Given the description of an element on the screen output the (x, y) to click on. 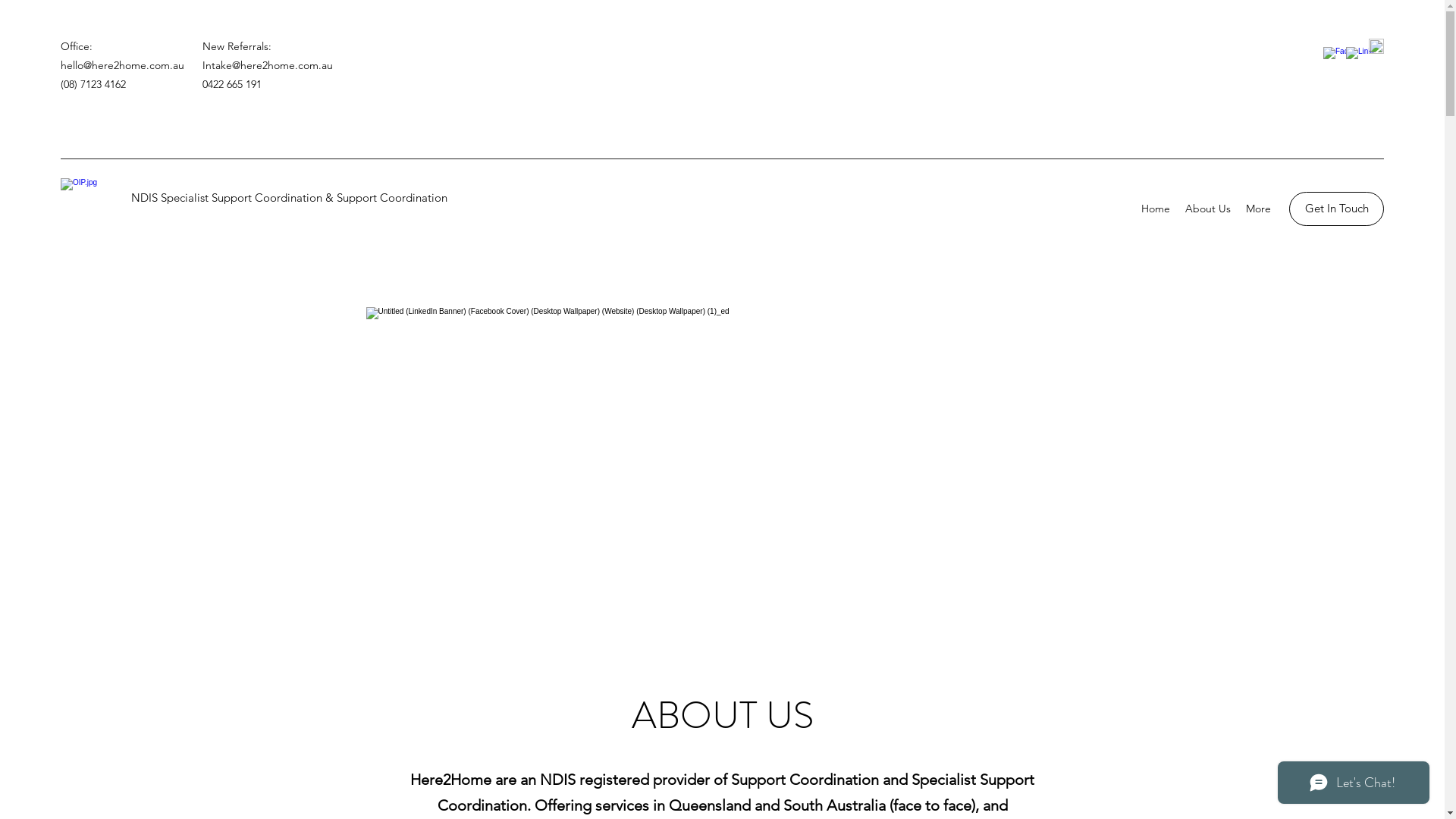
hello@here2home.com.au Element type: text (122, 65)
Intake@here2home.com.au Element type: text (267, 65)
Home Element type: text (1155, 208)
About Us Element type: text (1207, 208)
Get In Touch Element type: text (1336, 208)
